Given the description of an element on the screen output the (x, y) to click on. 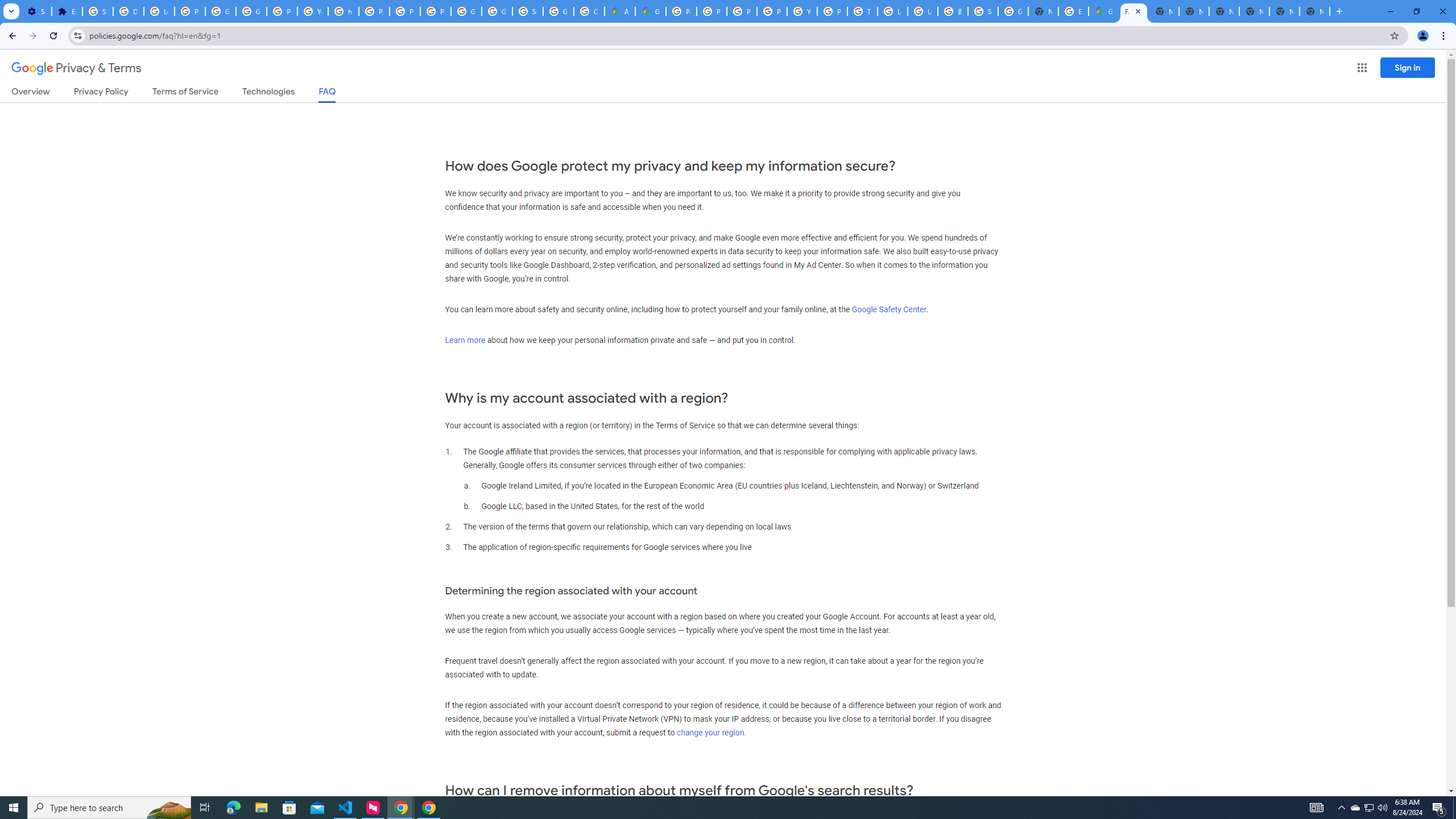
Google Maps (650, 11)
Create your Google Account (589, 11)
Sign in - Google Accounts (982, 11)
Privacy Help Center - Policies Help (741, 11)
Delete photos & videos - Computer - Google Photos Help (127, 11)
Settings - On startup (36, 11)
Technologies (268, 93)
Google Maps (1103, 11)
Tips & tricks for Chrome - Google Chrome Help (862, 11)
